Given the description of an element on the screen output the (x, y) to click on. 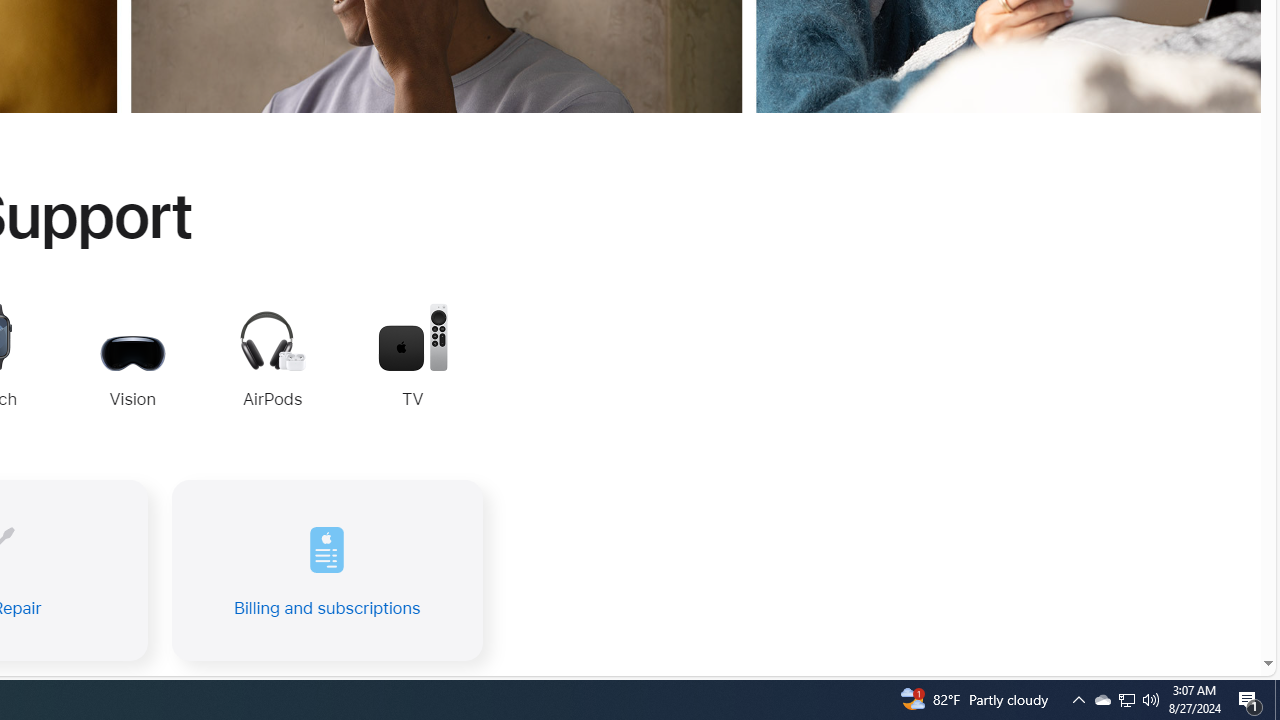
Apple Vision Pro Support (132, 358)
AirPods Support (272, 362)
Billing and subscriptions (326, 570)
TV Support (412, 358)
